Given the description of an element on the screen output the (x, y) to click on. 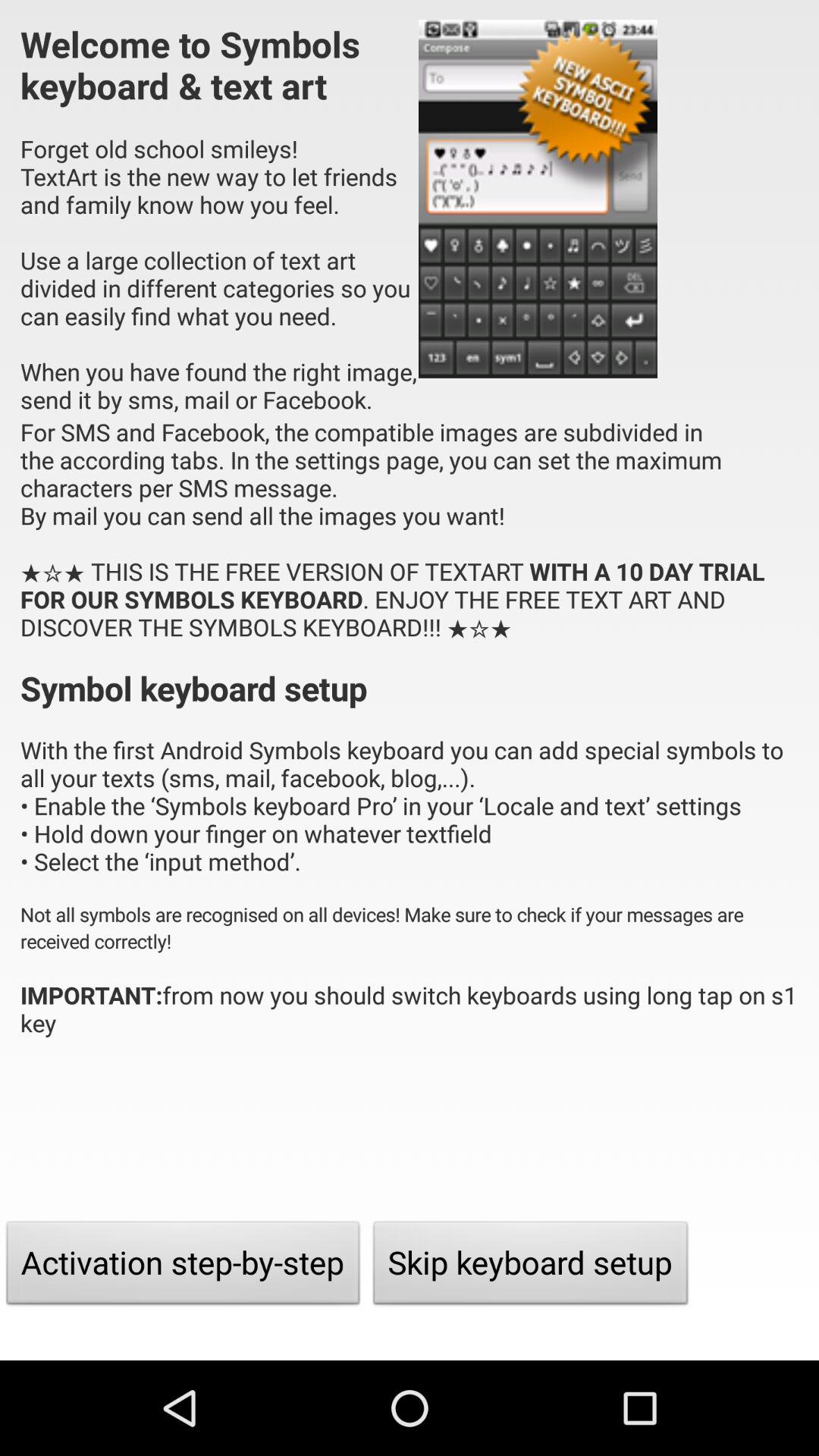
launch icon below the for sms and item (530, 1266)
